Given the description of an element on the screen output the (x, y) to click on. 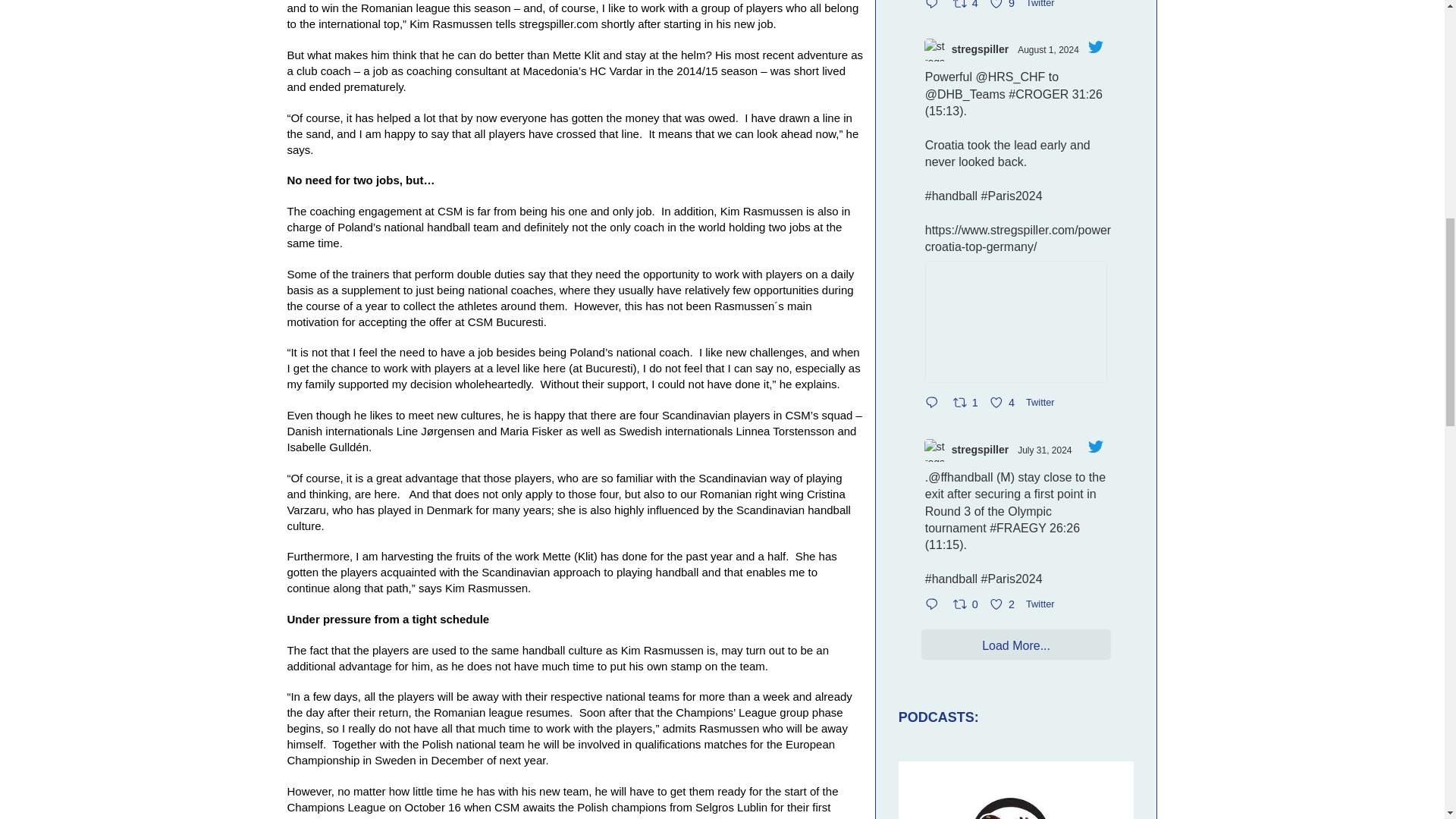
Twitter 1818984660291997933 (967, 7)
; (1043, 4)
Reply on Twitter 1818984660291997933 (935, 49)
August 1, 2024 1818816985582477682 (1003, 7)
stregspiller (935, 7)
